Given the description of an element on the screen output the (x, y) to click on. 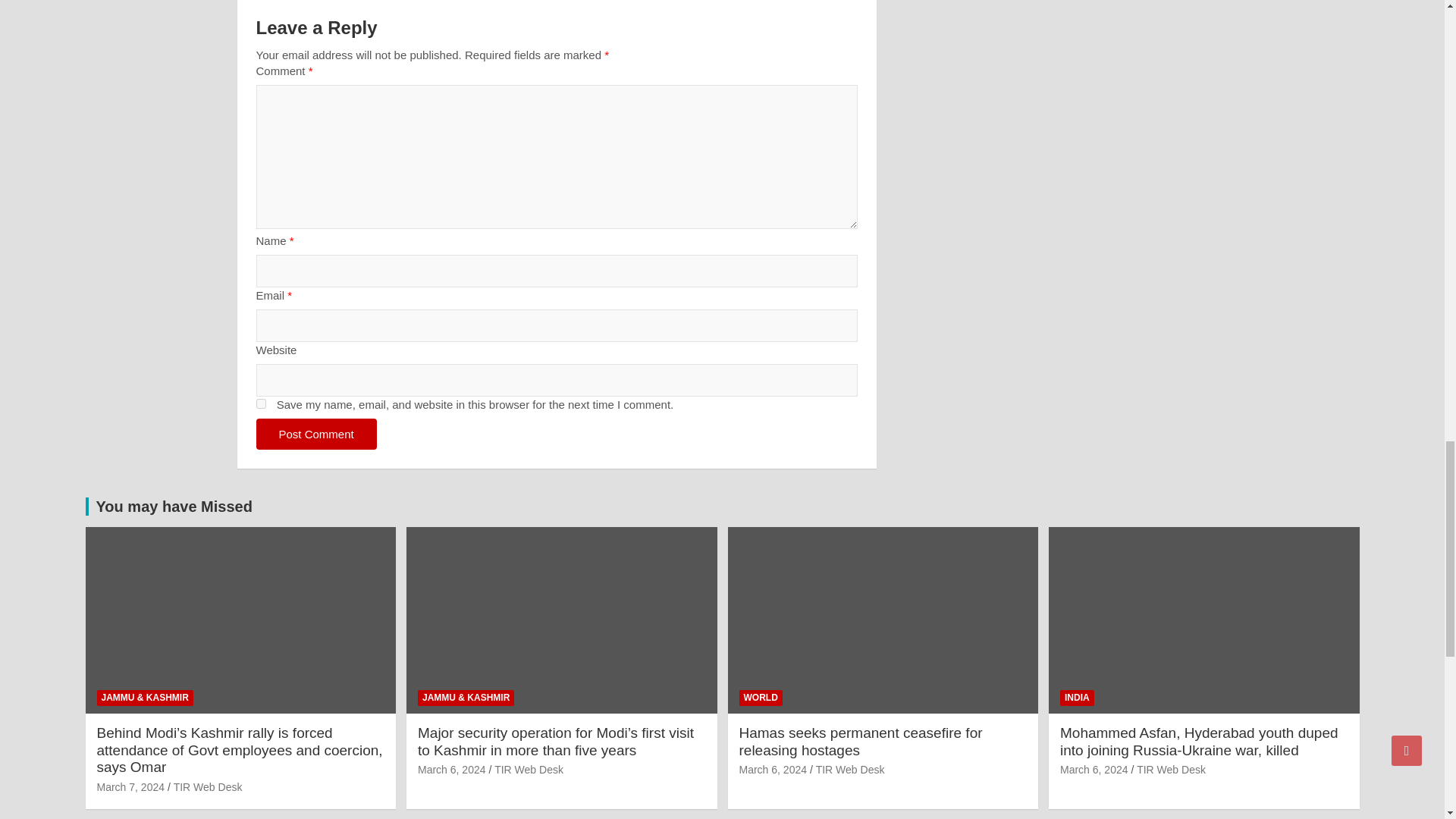
Post Comment (316, 433)
Hamas seeks permanent ceasefire for releasing hostages (772, 769)
yes (261, 403)
Post Comment (316, 433)
